Given the description of an element on the screen output the (x, y) to click on. 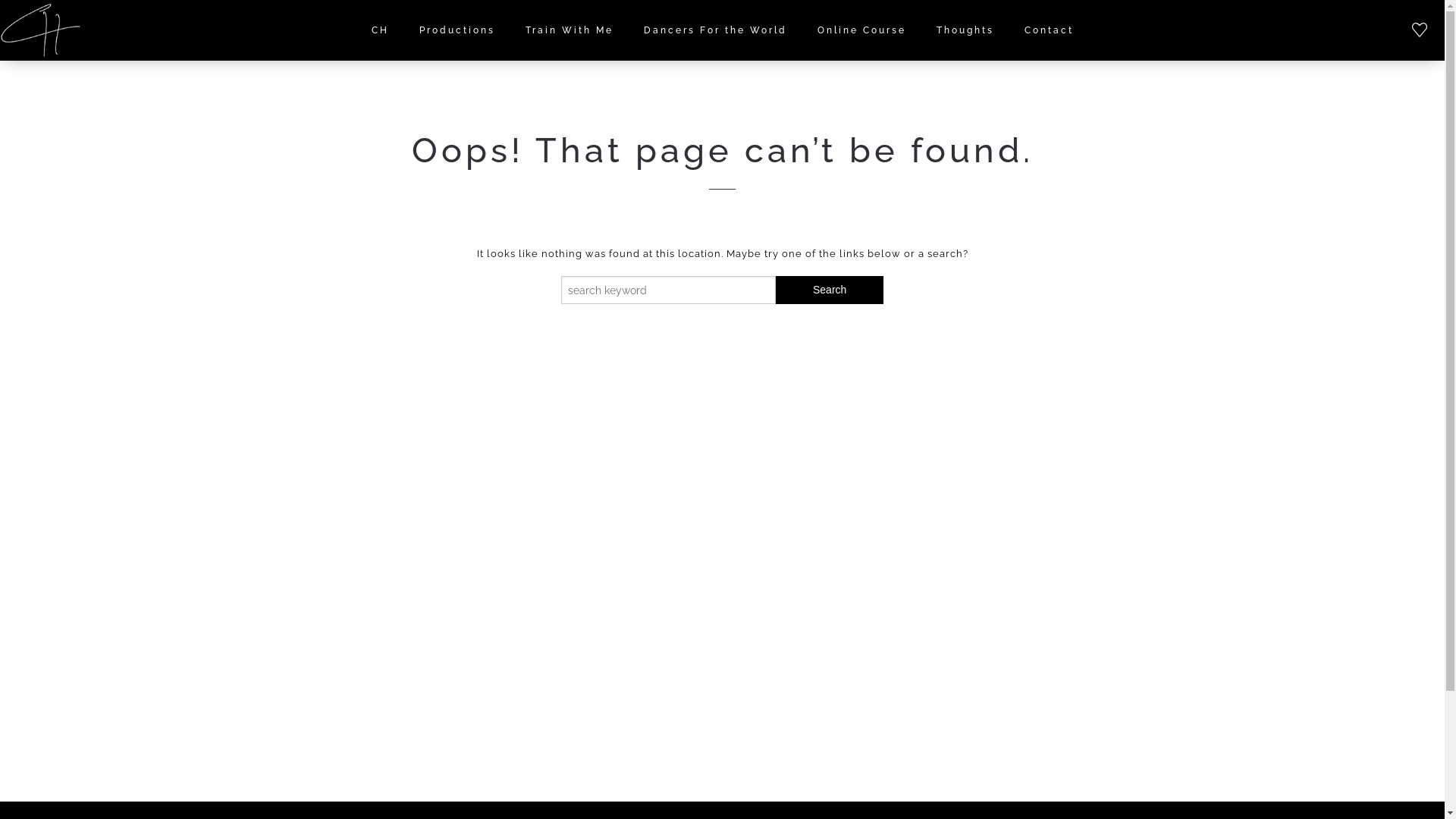
Thoughts Element type: text (964, 30)
Search Element type: text (829, 290)
Train With Me Element type: text (568, 30)
Dancers For the World Element type: text (714, 30)
Online Course Element type: text (861, 30)
Productions Element type: text (456, 30)
Home Element type: hover (40, 29)
CH Element type: text (380, 30)
Contact Element type: text (1048, 30)
